Given the description of an element on the screen output the (x, y) to click on. 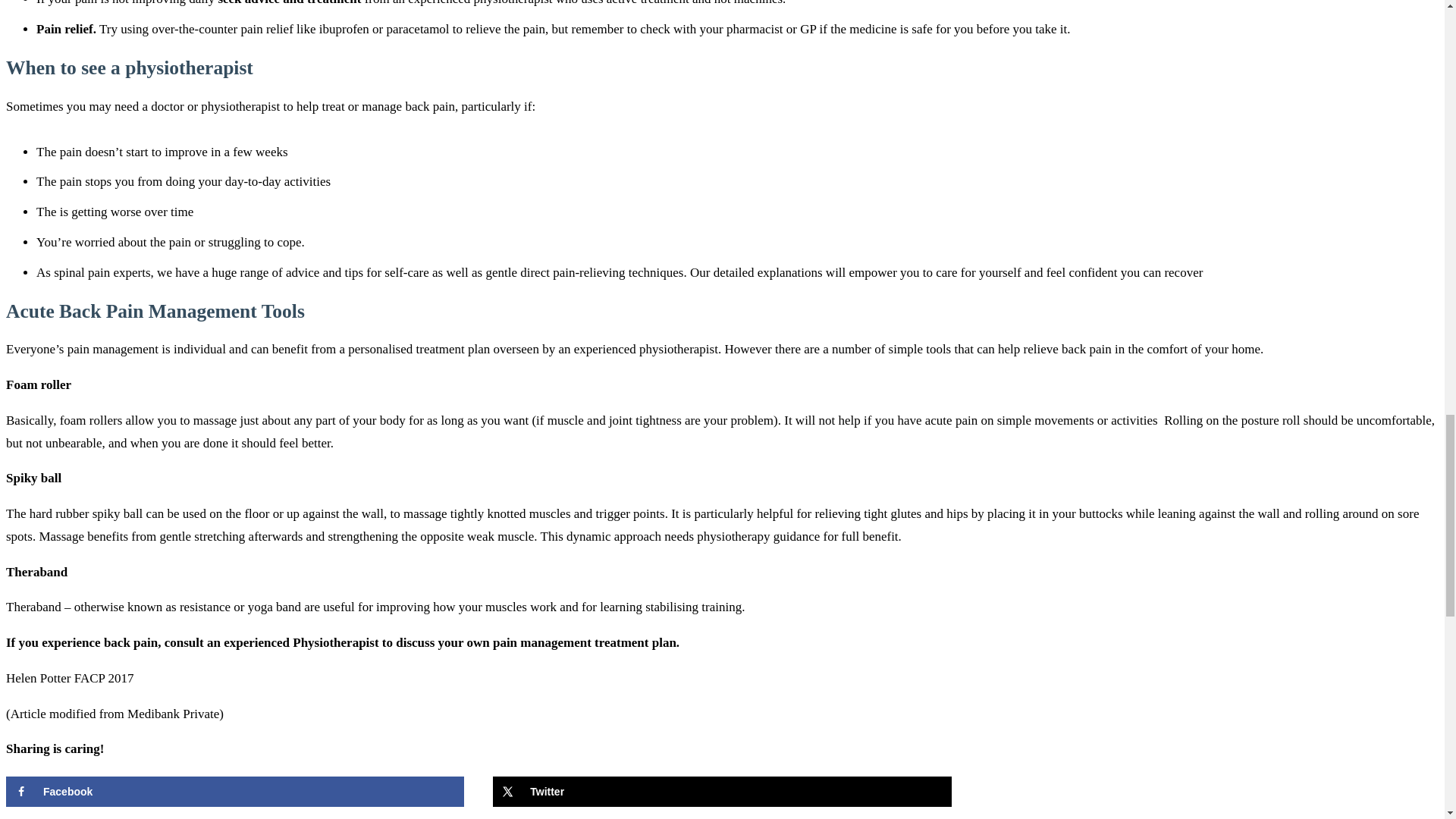
Share on Facebook (234, 791)
Back to News (41, 818)
Twitter (721, 791)
Facebook (234, 791)
Share on X (721, 791)
